Given the description of an element on the screen output the (x, y) to click on. 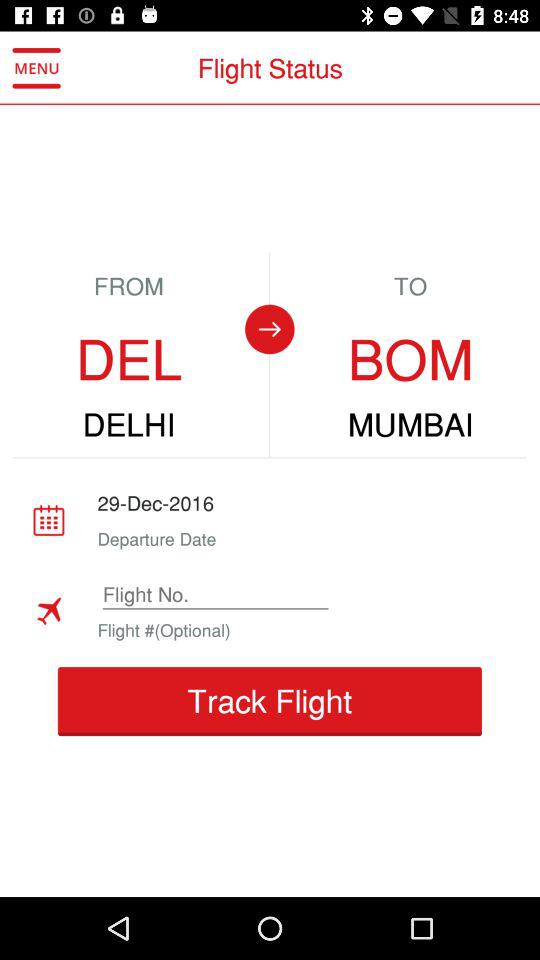
select del (128, 359)
